Given the description of an element on the screen output the (x, y) to click on. 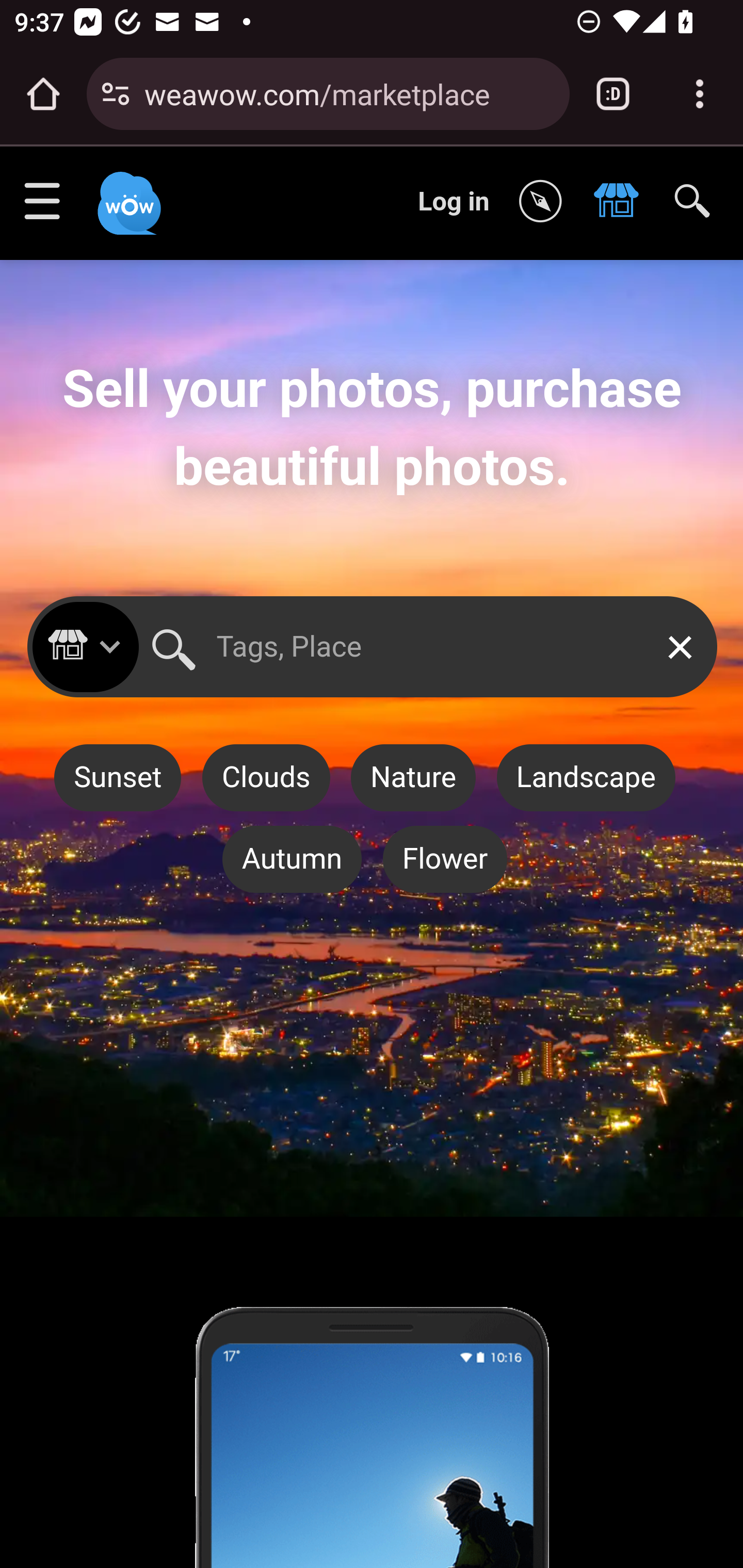
Open the home page (43, 93)
Connection is secure (115, 93)
Switch or close tabs (612, 93)
Customize and control Google Chrome (699, 93)
weawow.com/marketplace (349, 92)
Weawow (127, 194)
 (545, 201)
 (621, 201)
Log in (453, 201)
Sunset (117, 777)
Clouds (265, 777)
Nature (413, 777)
Landscape (585, 777)
Autumn (291, 859)
Flower (444, 859)
